Given the description of an element on the screen output the (x, y) to click on. 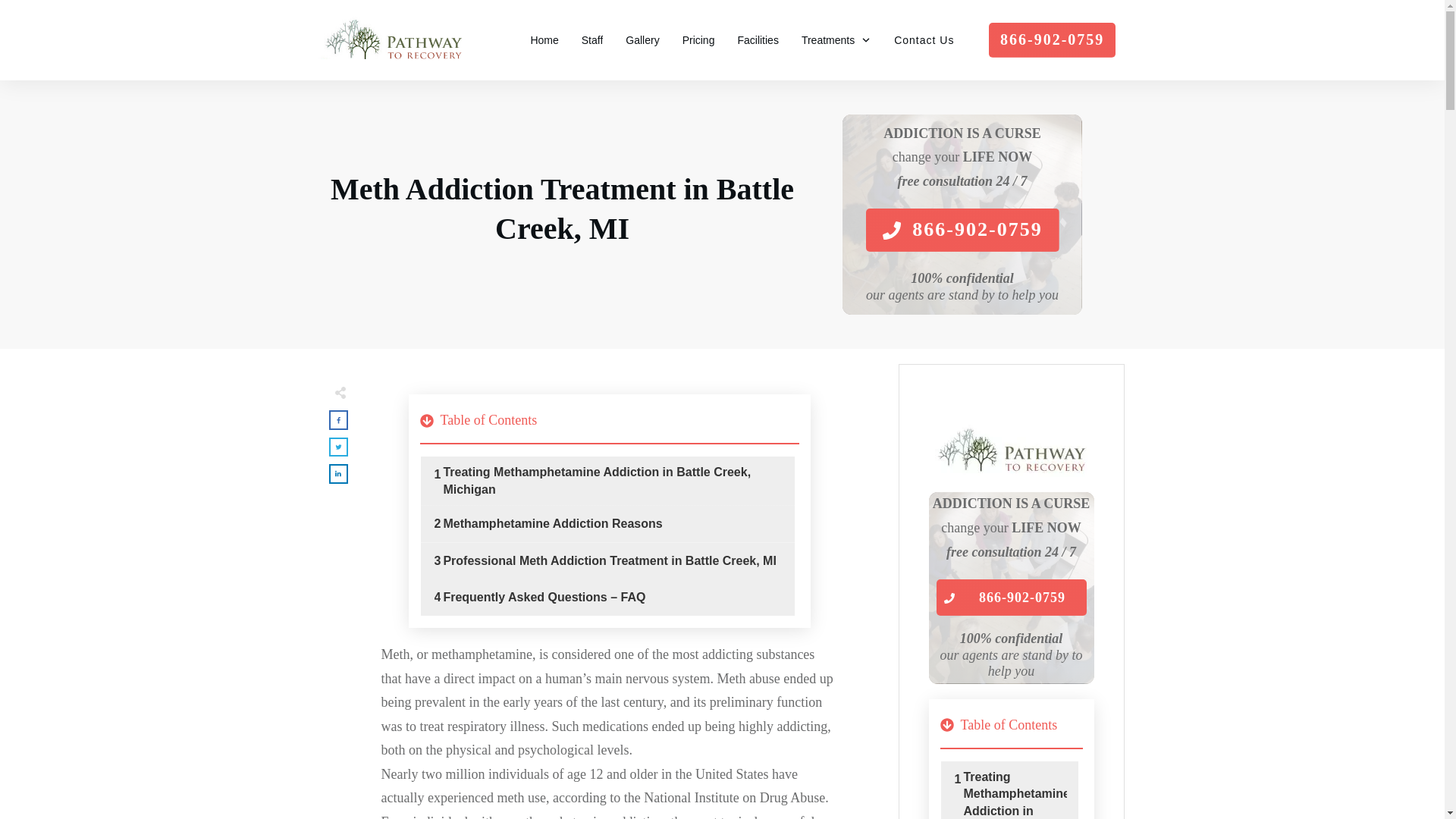
Treating Methamphetamine Addiction in Battle Creek, Michigan (612, 480)
Treating Methamphetamine Addiction in Battle Creek, Michigan (612, 480)
Gallery (642, 39)
Professional Meth Addiction Treatment in Battle Creek, MI (609, 560)
Pricing (698, 39)
Contact Us (923, 39)
Facilities (756, 39)
Staff (592, 39)
Methamphetamine Addiction Reasons (552, 523)
Treating Methamphetamine Addiction in Battle Creek, Michigan (1013, 794)
Methamphetamine Addiction Reasons (552, 523)
866-902-0759 (962, 229)
Treating Methamphetamine Addiction in Battle Creek, Michigan (1013, 794)
Treatments (836, 39)
Meth Addiction Treatment in Battle Creek, MI (561, 208)
